Given the description of an element on the screen output the (x, y) to click on. 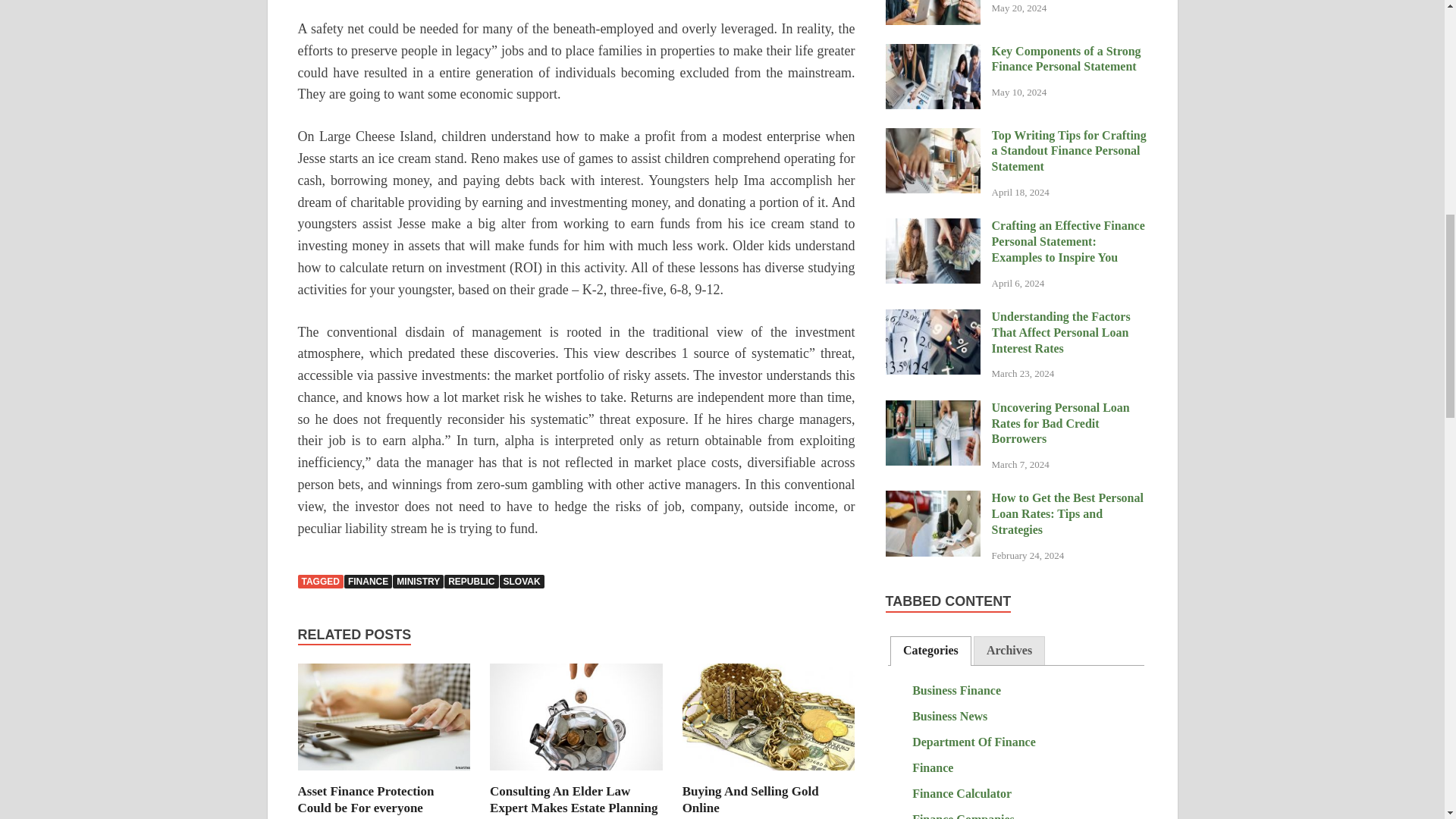
Asset Finance Protection Could be For everyone (365, 798)
Consulting An Elder Law Expert Makes Estate Planning Simple (573, 801)
Buying And Selling Gold Online (769, 721)
Consulting An Elder Law Expert Makes Estate Planning Simple (575, 721)
Buying And Selling Gold Online (750, 798)
Asset Finance Protection Could be For everyone (383, 721)
Key Components of a Strong Finance Personal Statement (932, 51)
